Given the description of an element on the screen output the (x, y) to click on. 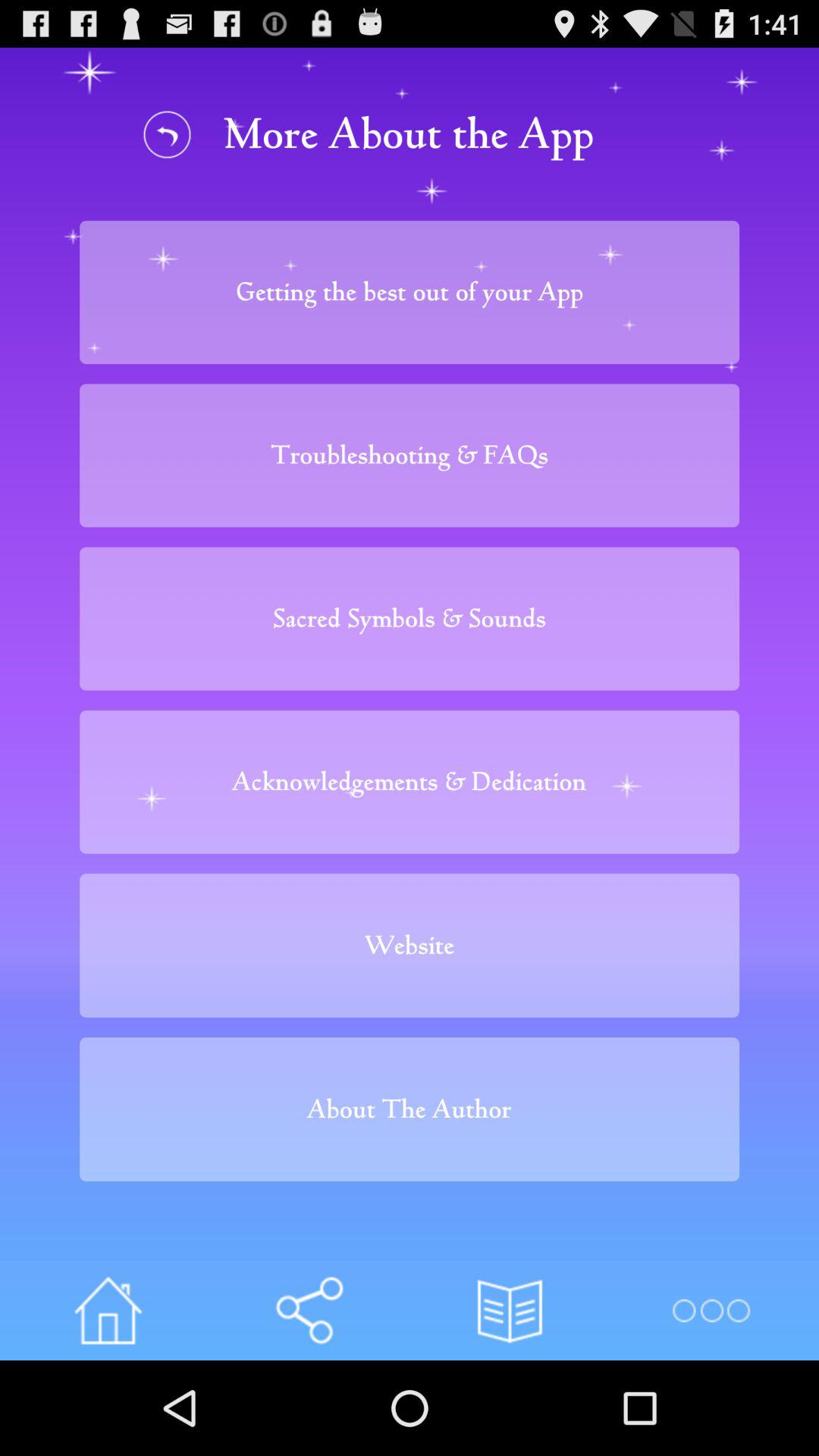
go back (167, 133)
